Given the description of an element on the screen output the (x, y) to click on. 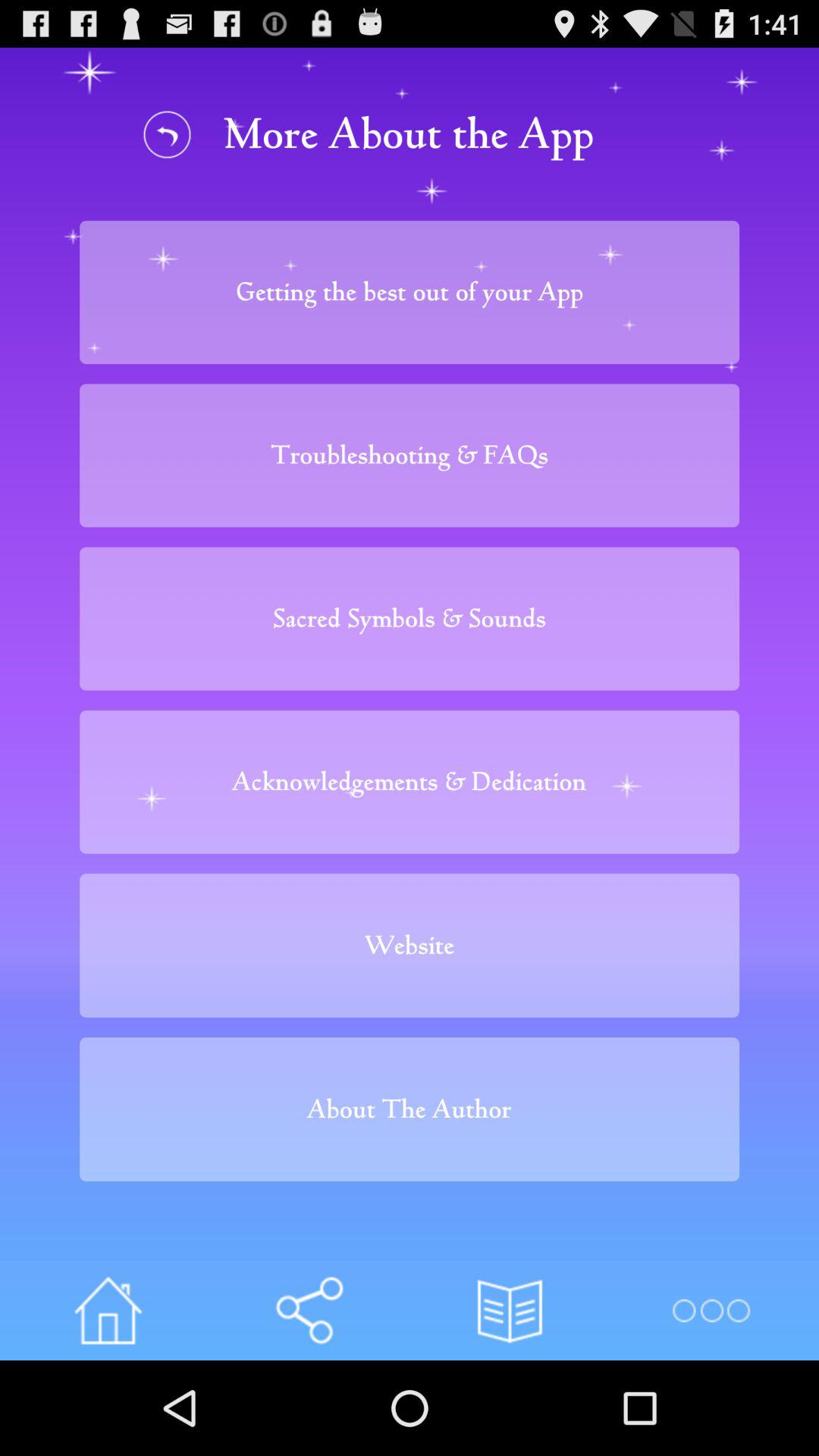
go back (167, 133)
